Given the description of an element on the screen output the (x, y) to click on. 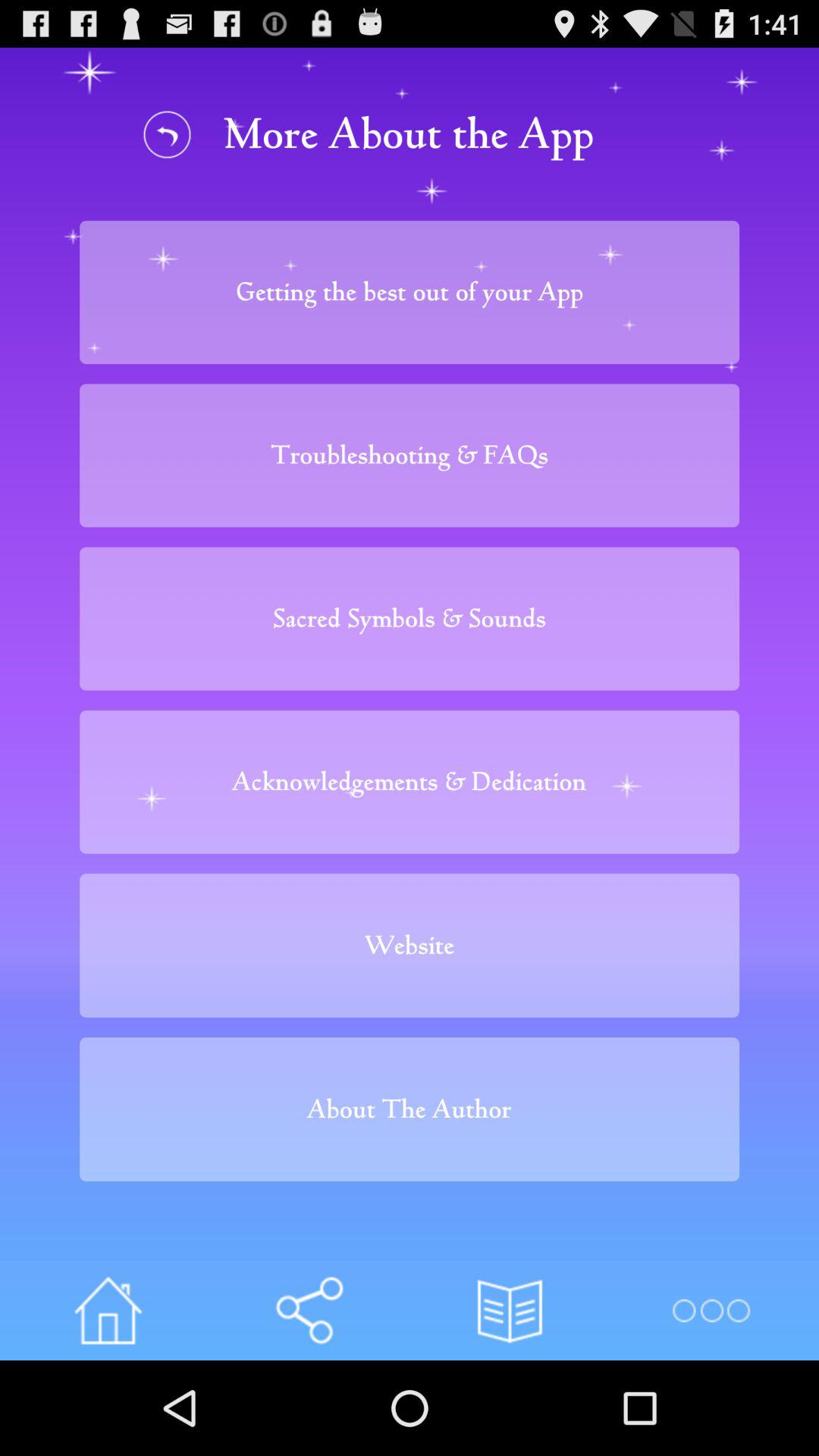
go back (167, 133)
